Given the description of an element on the screen output the (x, y) to click on. 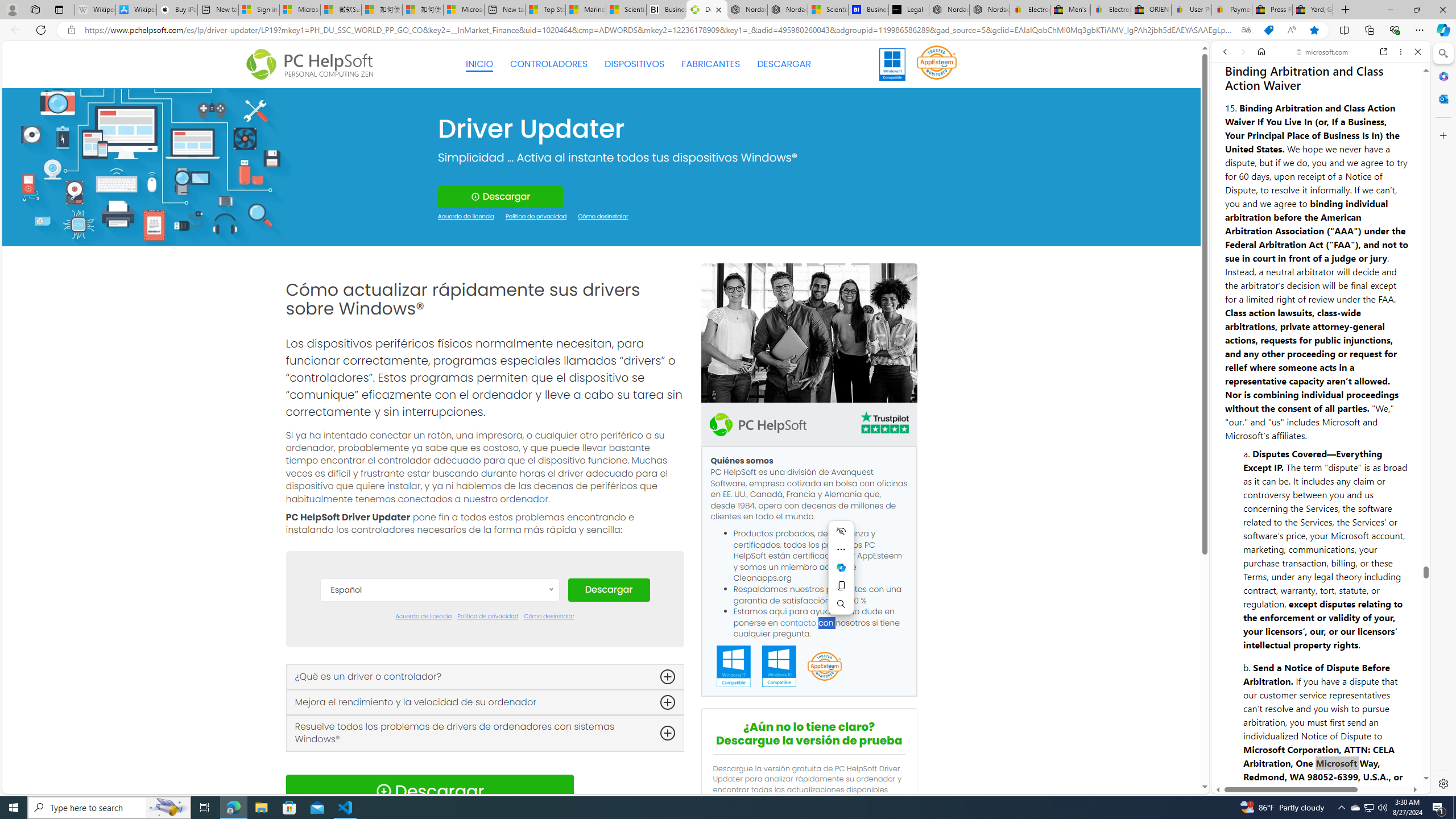
Home (1261, 51)
Windows 11 Compatible (733, 666)
Descarga Driver Updater (706, 9)
Minimize Search pane (1442, 53)
Sign in to your Microsoft account (258, 9)
Windows 10 Compatible (778, 666)
Download Icon Descargar (429, 790)
Logo Personal Computing (313, 64)
Norsk (439, 780)
